Given the description of an element on the screen output the (x, y) to click on. 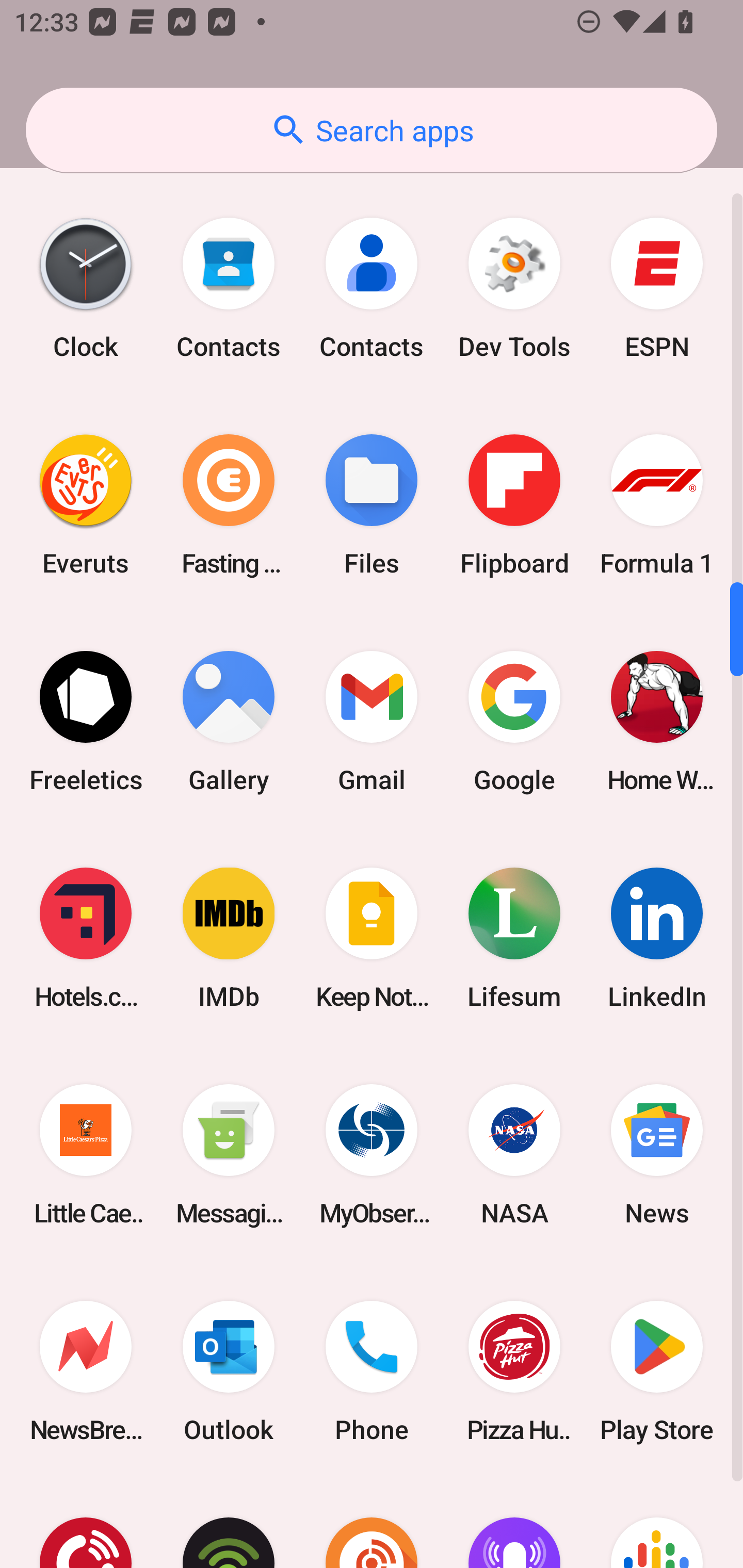
  Search apps (371, 130)
Clock (85, 288)
Contacts (228, 288)
Contacts (371, 288)
Dev Tools (514, 288)
ESPN (656, 288)
Everuts (85, 504)
Fasting Coach (228, 504)
Files (371, 504)
Flipboard (514, 504)
Formula 1 (656, 504)
Freeletics (85, 721)
Gallery (228, 721)
Gmail (371, 721)
Google (514, 721)
Home Workout (656, 721)
Hotels.com (85, 937)
IMDb (228, 937)
Keep Notes (371, 937)
Lifesum (514, 937)
LinkedIn (656, 937)
Little Caesars Pizza (85, 1154)
Messaging (228, 1154)
MyObservatory (371, 1154)
NASA (514, 1154)
News (656, 1154)
NewsBreak (85, 1371)
Outlook (228, 1371)
Phone (371, 1371)
Pizza Hut HK & Macau (514, 1371)
Play Store (656, 1371)
